Given the description of an element on the screen output the (x, y) to click on. 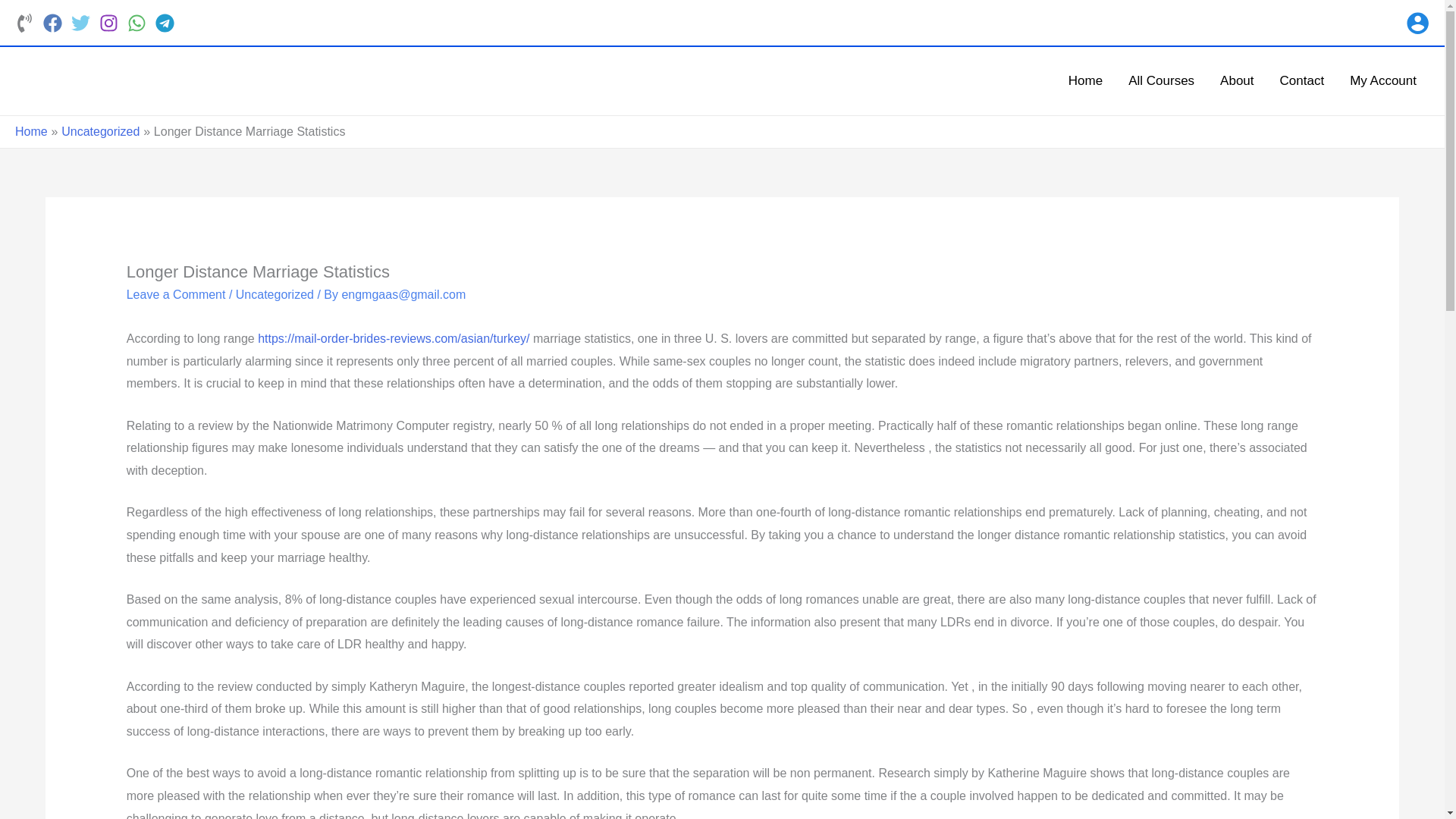
Home (1085, 80)
Contact (1302, 80)
About (1236, 80)
Log In (689, 644)
My Account (1382, 80)
All Courses (1161, 80)
